Given the description of an element on the screen output the (x, y) to click on. 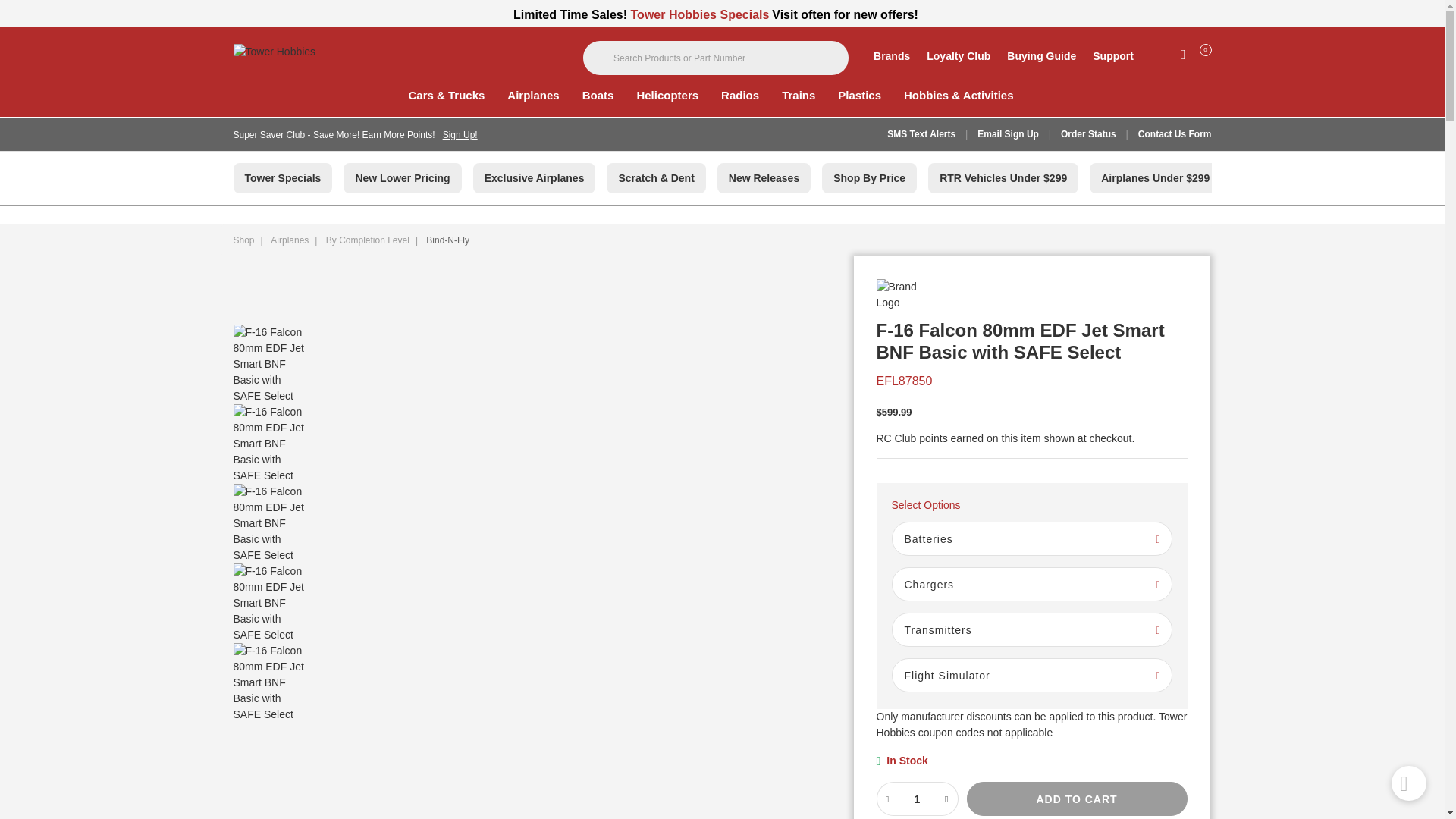
1 (916, 798)
Tower Hobbies Home (342, 58)
ICON-CLOSE (1204, 15)
